Given the description of an element on the screen output the (x, y) to click on. 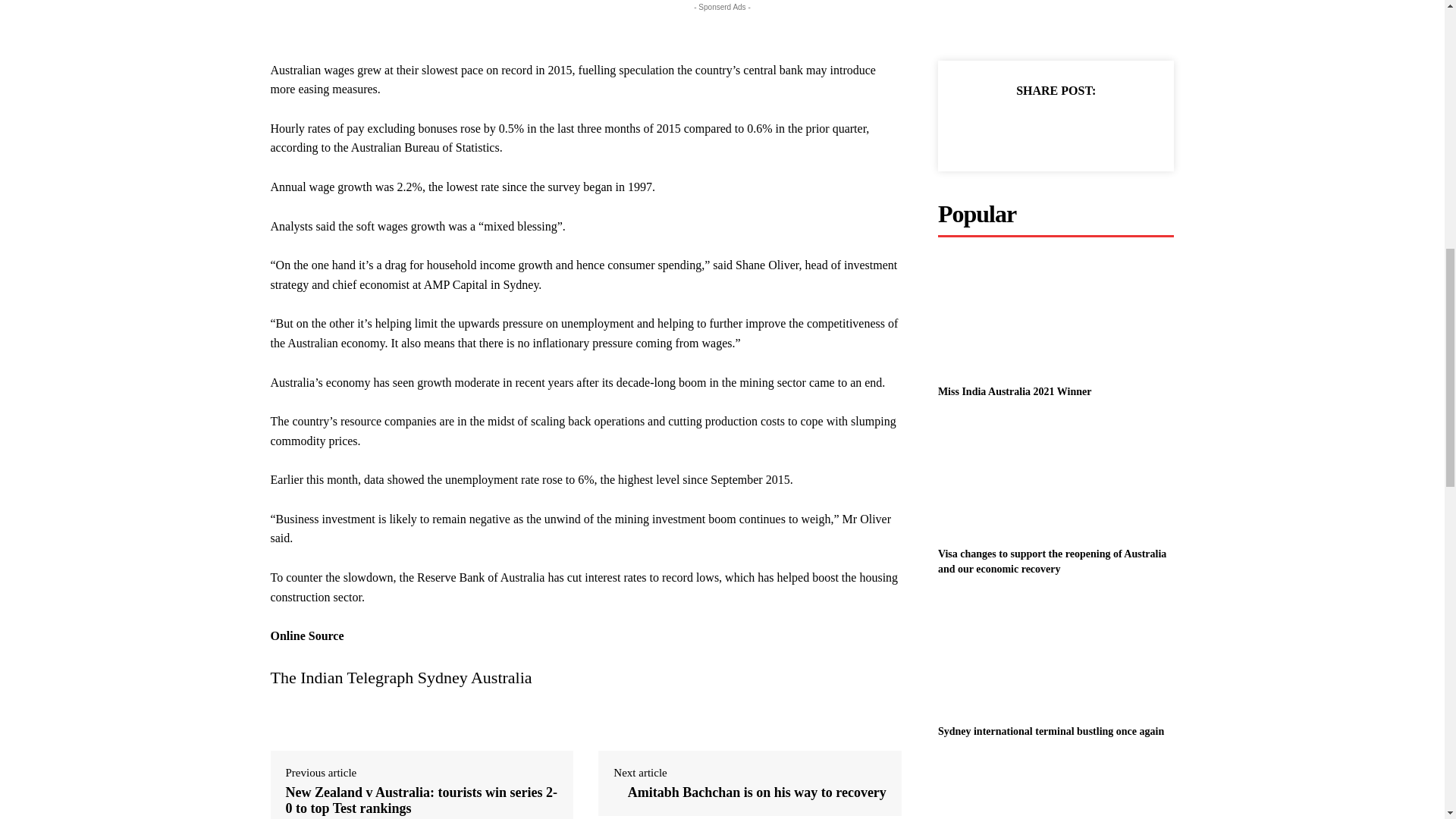
Sydney international terminal bustling once again (1055, 655)
Miss India Australia 2021 Winner (1055, 315)
Miss India Australia 2021 Winner (1014, 391)
